Given the description of an element on the screen output the (x, y) to click on. 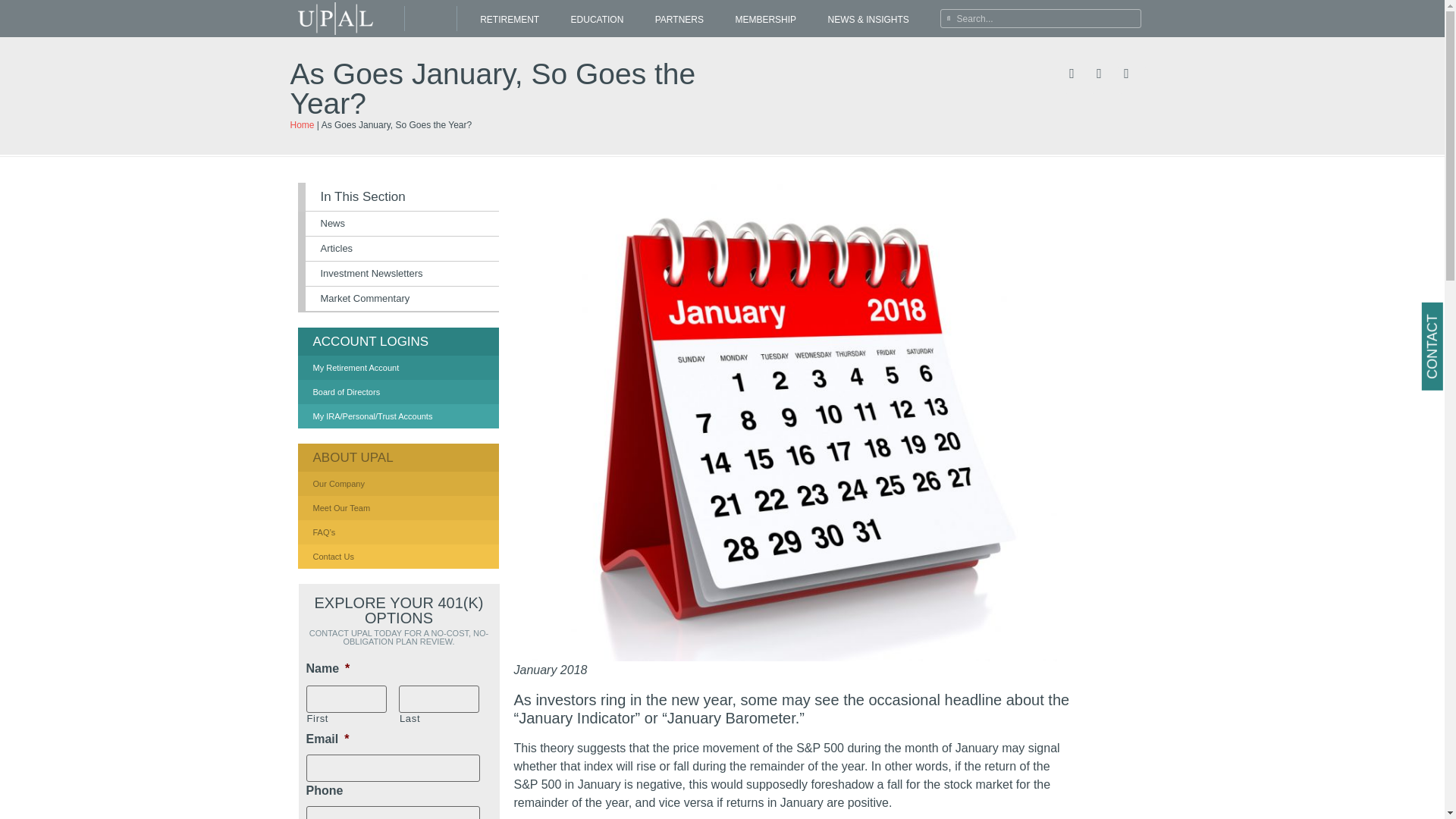
EDUCATION (596, 19)
PARTNERS (679, 19)
MEMBERSHIP (765, 19)
RETIREMENT (509, 19)
